Given the description of an element on the screen output the (x, y) to click on. 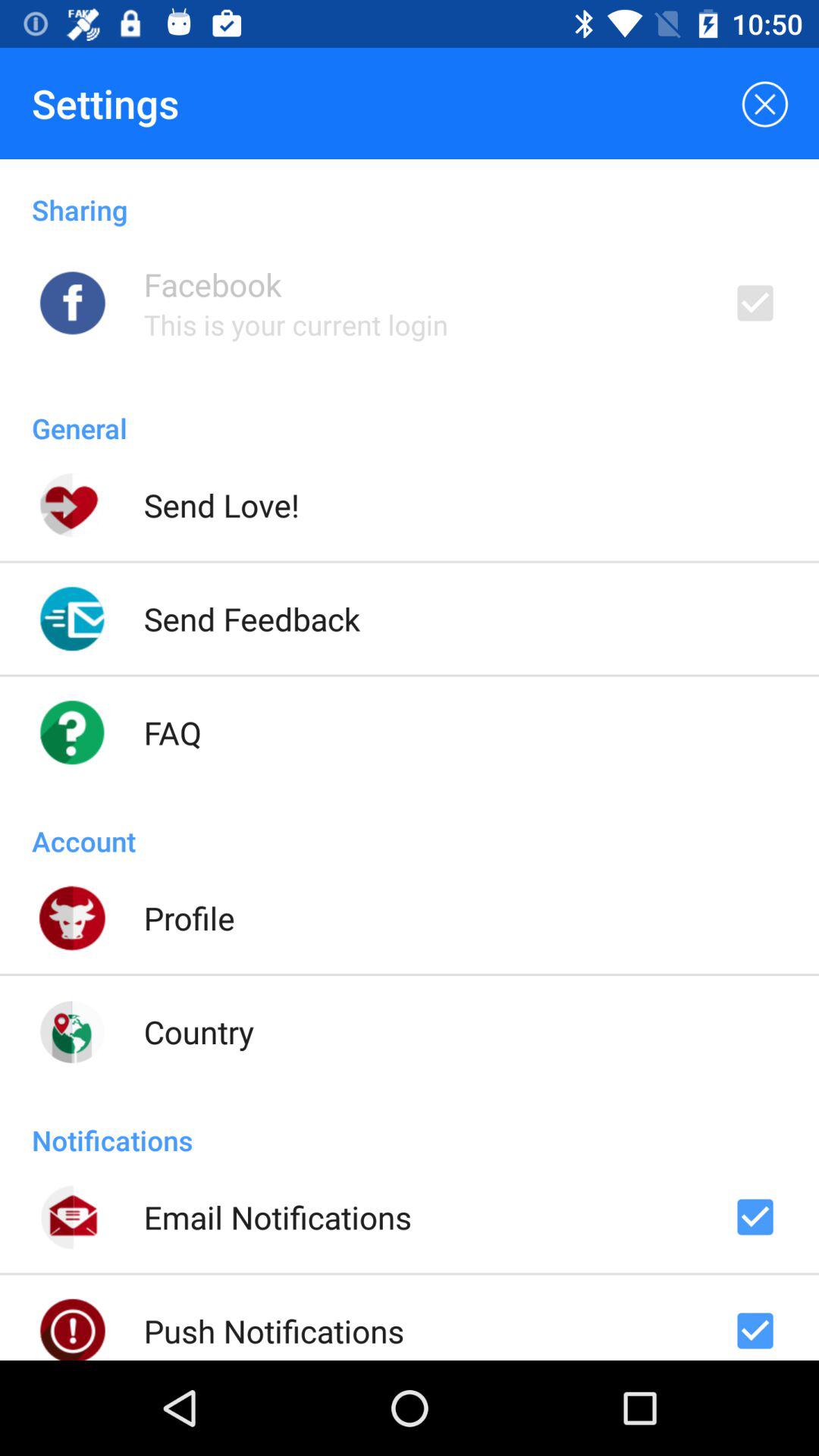
flip to general item (409, 412)
